Given the description of an element on the screen output the (x, y) to click on. 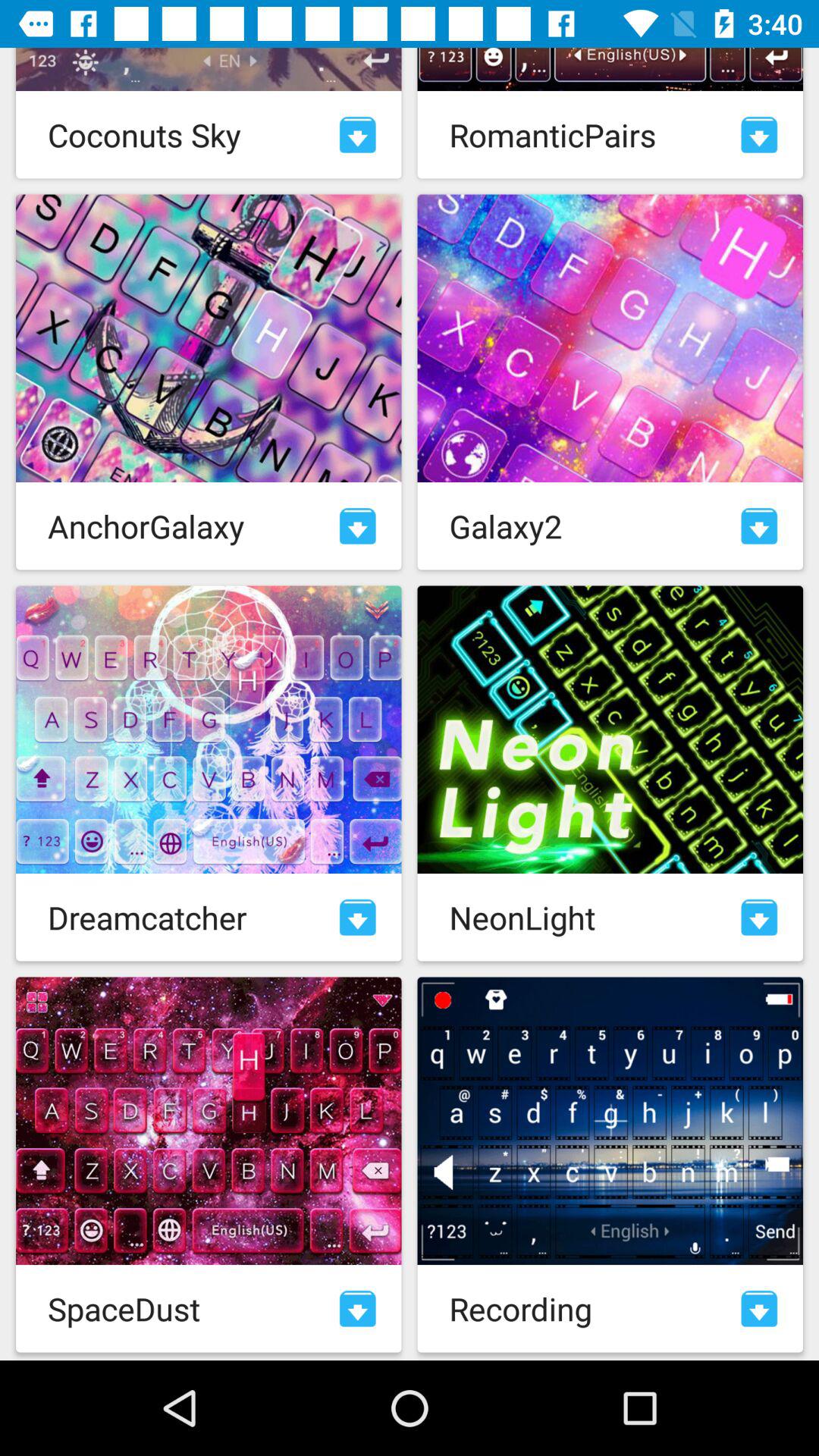
download the keyboard (357, 917)
